Given the description of an element on the screen output the (x, y) to click on. 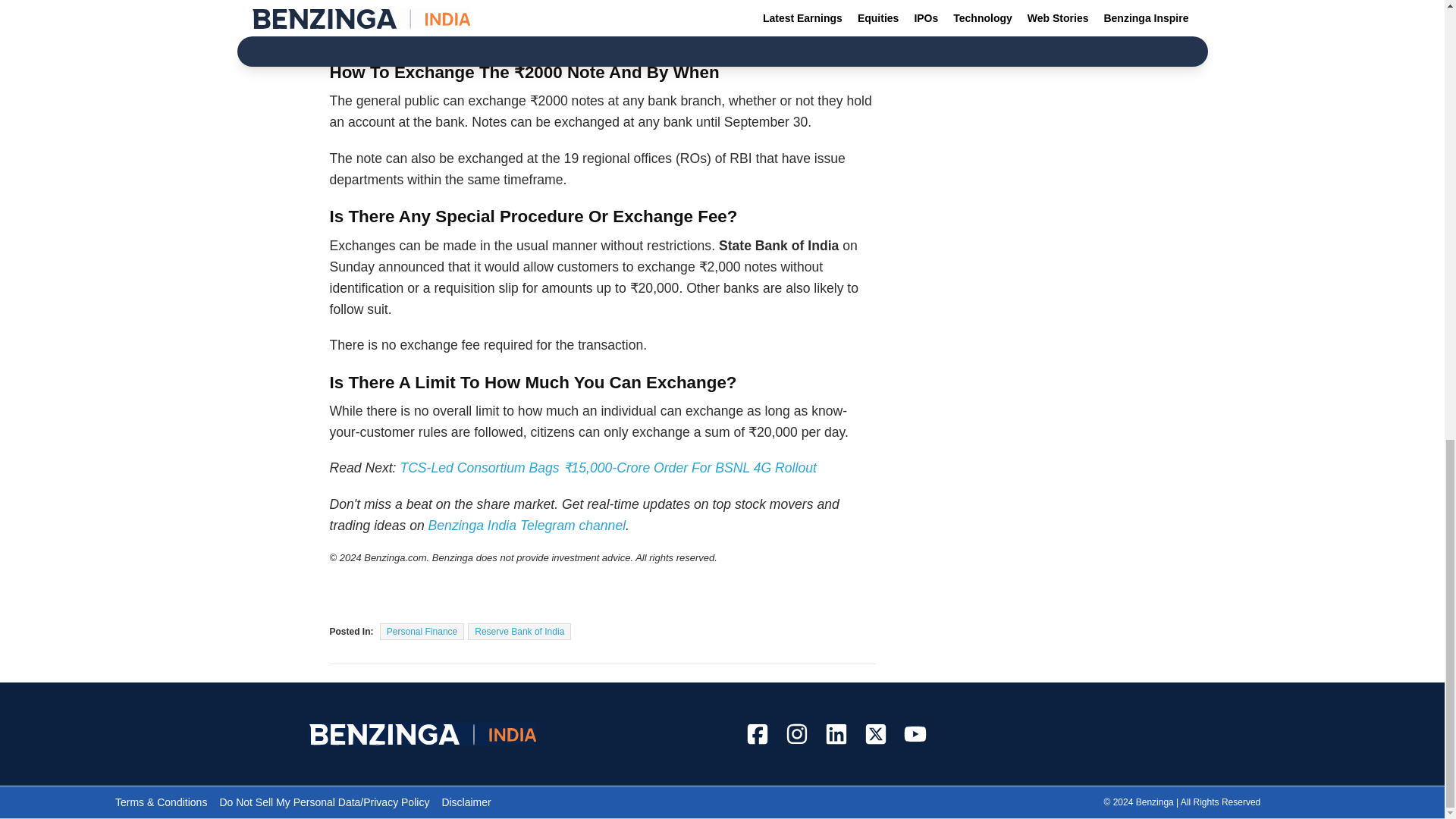
Disclaimer (465, 802)
Personal Finance (422, 631)
Reserve Bank of India (518, 631)
Benzinga India Telegram channel (527, 525)
